Given the description of an element on the screen output the (x, y) to click on. 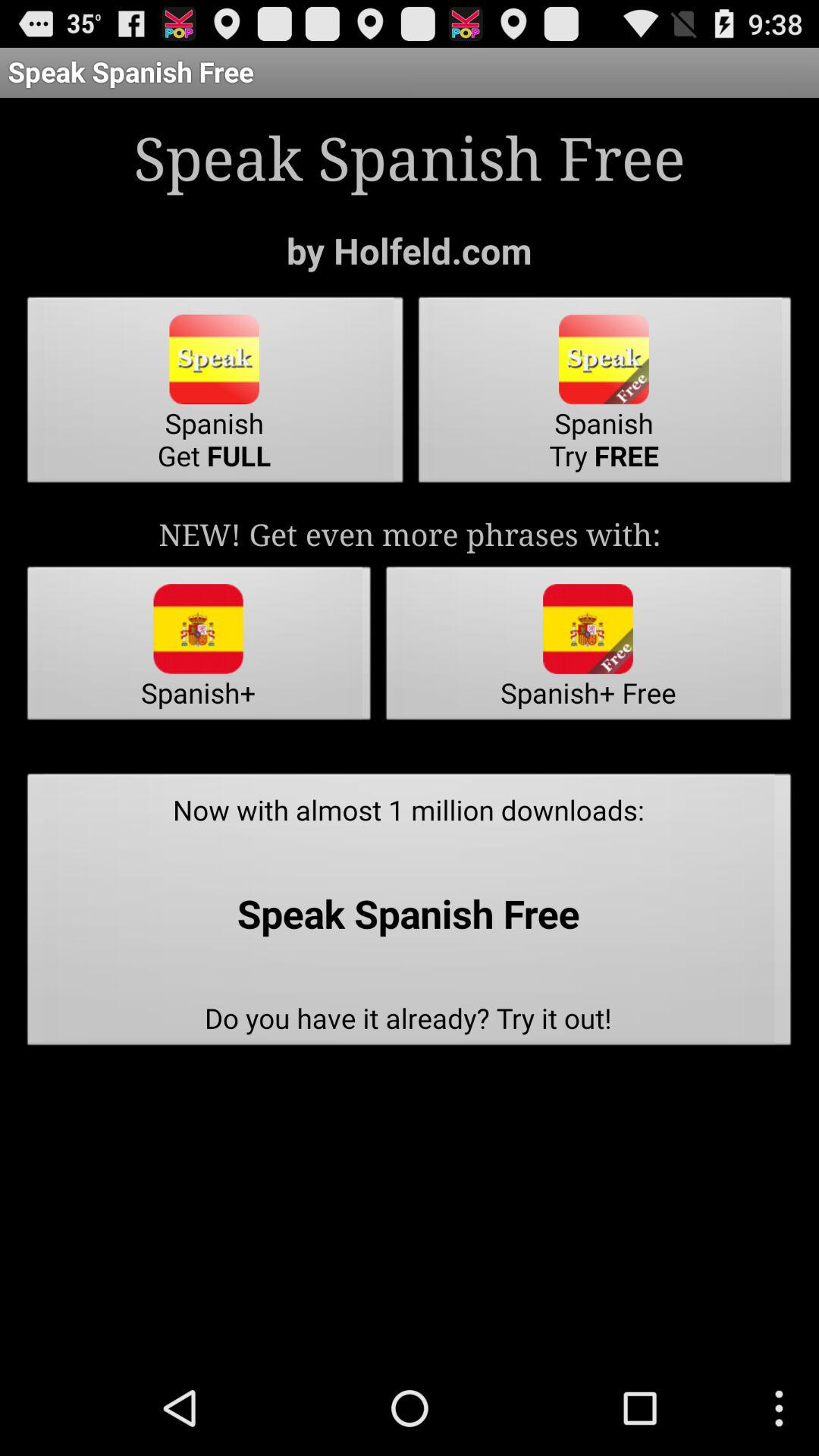
click the item above new get even icon (215, 394)
